Given the description of an element on the screen output the (x, y) to click on. 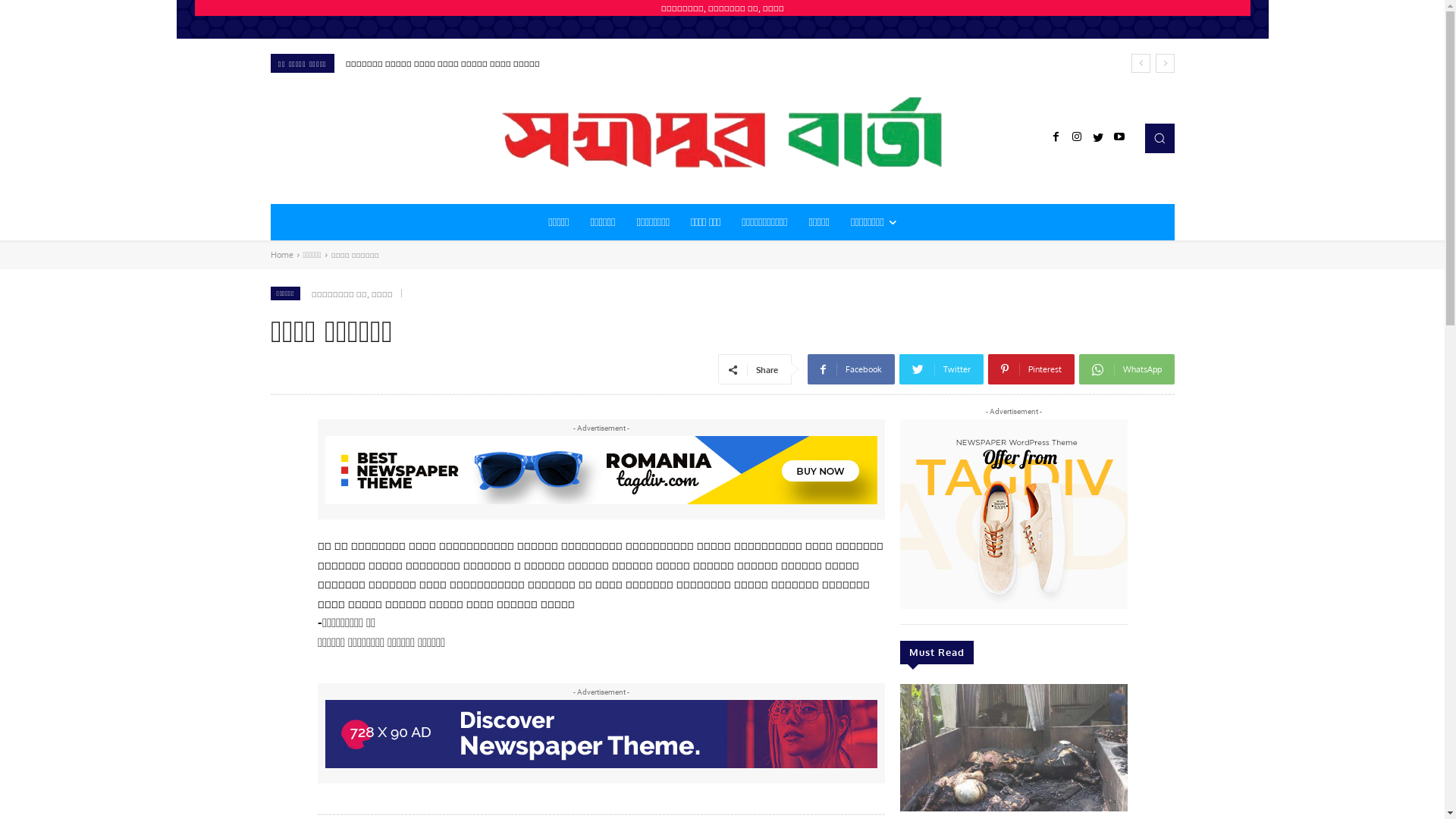
Facebook Element type: text (850, 369)
Instagram Element type: hover (1076, 137)
Pinterest Element type: text (1030, 369)
Facebook Element type: hover (1055, 137)
Twitter Element type: text (941, 369)
Twitter Element type: hover (1097, 137)
Youtube Element type: hover (1118, 137)
Home Element type: text (280, 254)
WhatsApp Element type: text (1125, 369)
